Given the description of an element on the screen output the (x, y) to click on. 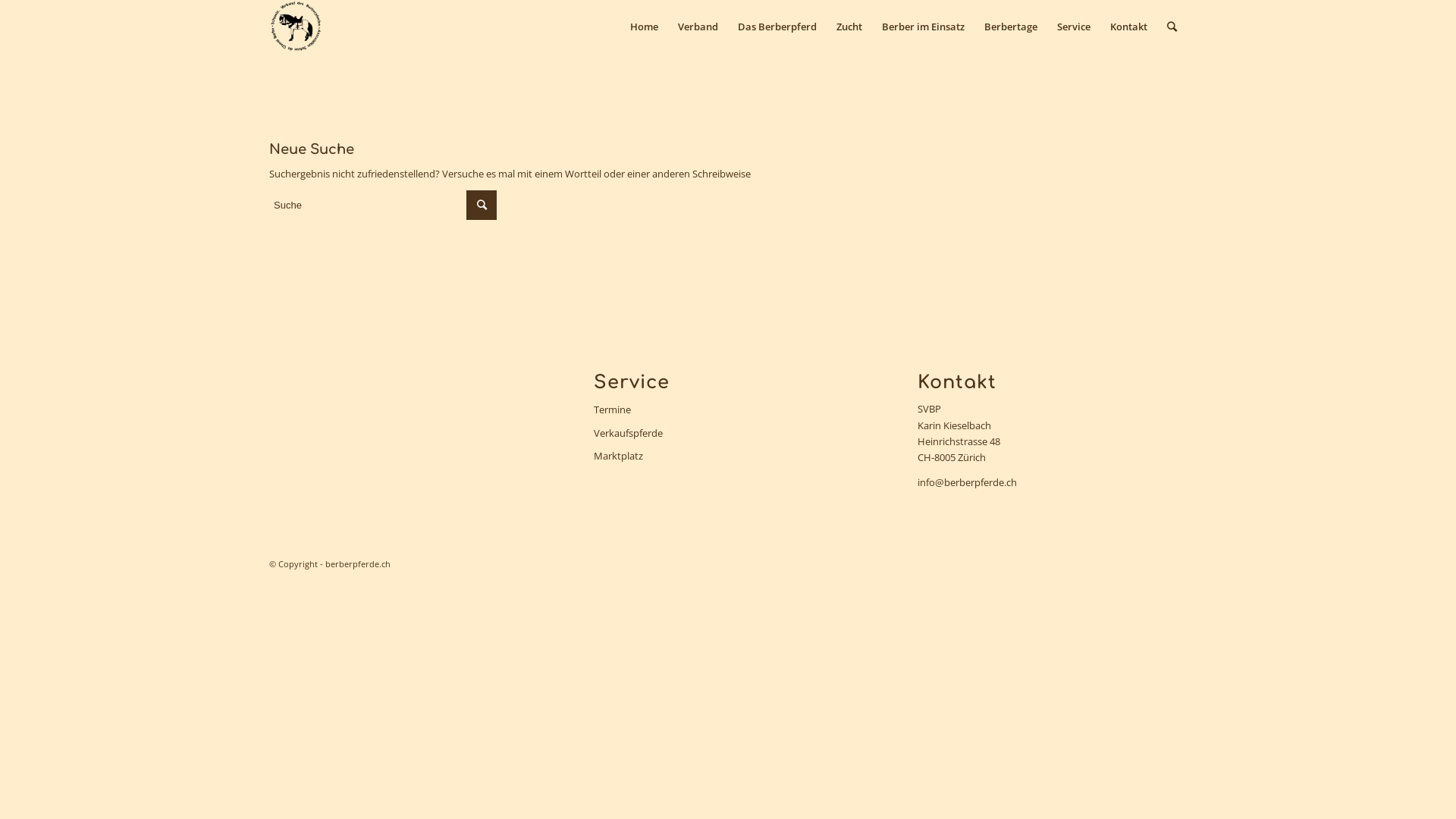
Termine Element type: text (727, 409)
Berbertage Element type: text (1010, 26)
Marktplatz Element type: text (727, 456)
Verkaufspferde Element type: text (727, 433)
Zucht Element type: text (849, 26)
Home Element type: text (644, 26)
Service Element type: text (1073, 26)
Verband Element type: text (698, 26)
Das Berberpferd Element type: text (777, 26)
Berber im Einsatz Element type: text (923, 26)
Kontakt Element type: text (1128, 26)
